Given the description of an element on the screen output the (x, y) to click on. 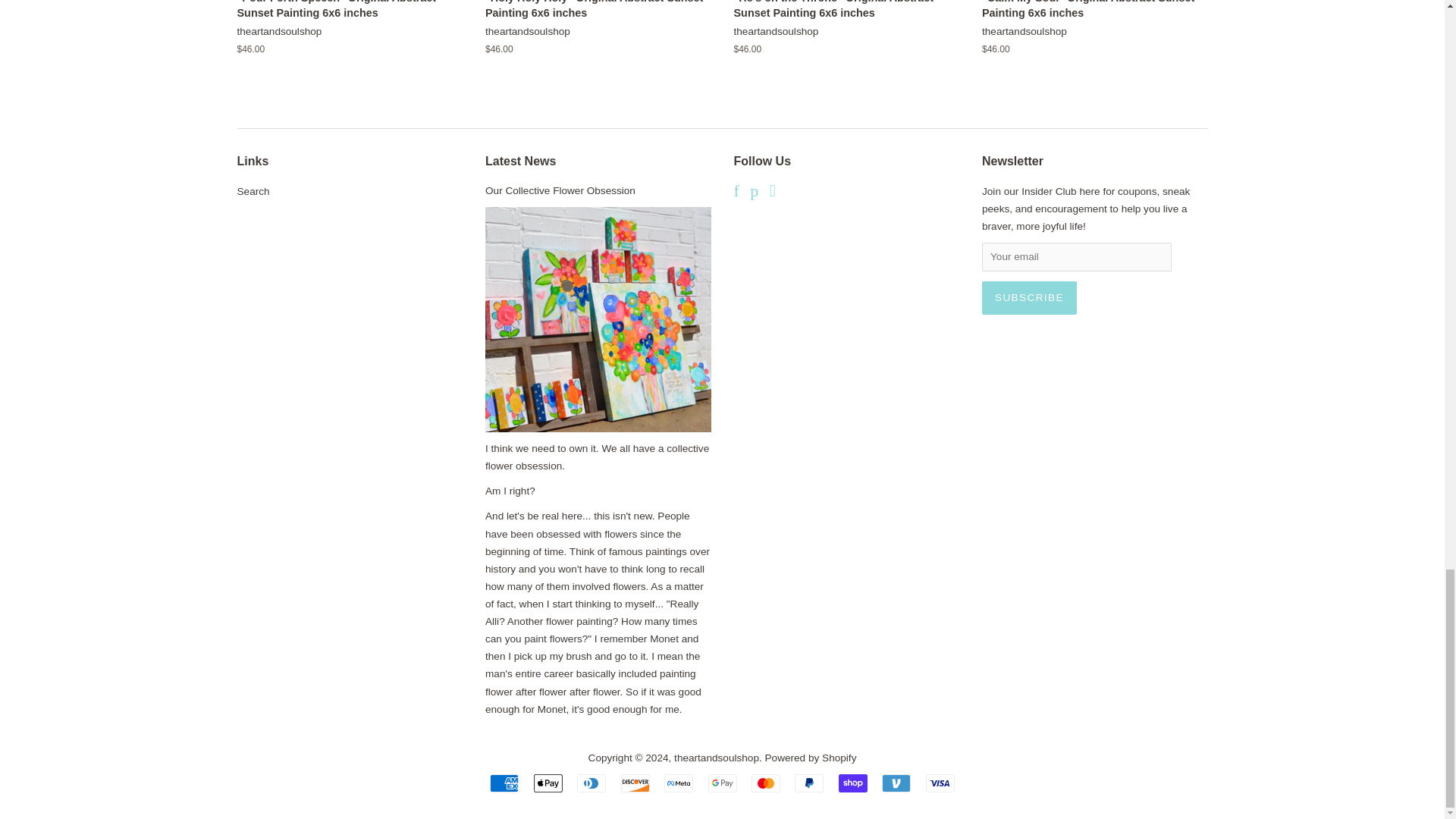
Venmo (896, 782)
American Express (503, 782)
Discover (635, 782)
Google Pay (721, 782)
Meta Pay (678, 782)
Apple Pay (548, 782)
Visa (940, 782)
PayPal (809, 782)
Subscribe (1029, 297)
Diners Club (590, 782)
Shop Pay (852, 782)
Mastercard (765, 782)
